Given the description of an element on the screen output the (x, y) to click on. 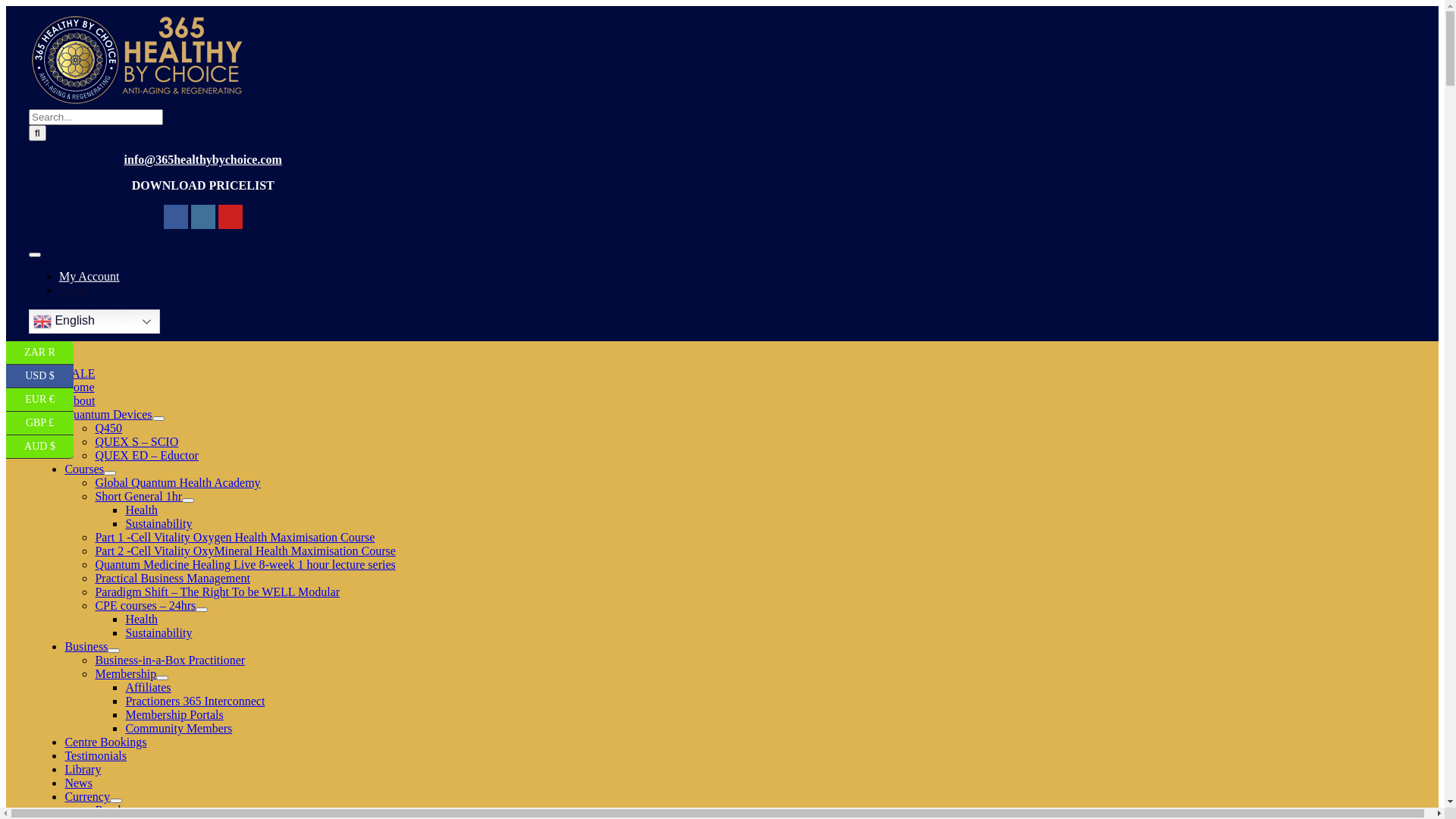
AUD $ Element type: text (39, 446)
USD $ Element type: text (39, 376)
Centre Bookings Element type: text (105, 741)
Part 1 -Cell Vitality Oxygen Health Maximisation Course Element type: text (234, 536)
Practioners 365 Interconnect Element type: text (194, 700)
Login Element type: text (73, 289)
Practical Business Management Element type: text (171, 577)
My Account Element type: text (89, 275)
Sustainability Element type: text (158, 632)
Facebook Element type: hover (175, 216)
Quantum Devices Element type: text (107, 413)
Courses Element type: text (83, 468)
Health Element type: text (141, 509)
Rand Element type: text (107, 809)
Business Element type: text (85, 646)
Sustainability Element type: text (158, 523)
Health Element type: text (141, 618)
Testimonials Element type: text (95, 755)
Q450 Element type: text (108, 427)
SALE Element type: text (79, 373)
Currency Element type: text (86, 796)
Library Element type: text (82, 768)
Part 2 -Cell Vitality OxyMineral Health Maximisation Course Element type: text (244, 550)
About Element type: text (79, 400)
info@365healthybychoice.com Element type: text (203, 159)
Short General 1hr Element type: text (138, 495)
Membership Element type: text (125, 673)
Business-in-a-Box Practitioner Element type: text (169, 659)
Community Members Element type: text (178, 727)
Affiliates Element type: text (147, 686)
DOWNLOAD PRICELIST Element type: text (202, 184)
ZAR R Element type: text (39, 352)
Skip to content Element type: text (5, 5)
Quantum Medicine Healing Live 8-week 1 hour lecture series Element type: text (244, 564)
YouTube Element type: hover (230, 216)
Membership Portals Element type: text (173, 714)
Toggle Navigation Element type: text (34, 254)
Instagram Element type: hover (203, 216)
Home Element type: text (79, 386)
English Element type: text (94, 321)
Toggle Navigation Element type: text (34, 351)
News Element type: text (77, 782)
Global Quantum Health Academy Element type: text (177, 482)
